Given the description of an element on the screen output the (x, y) to click on. 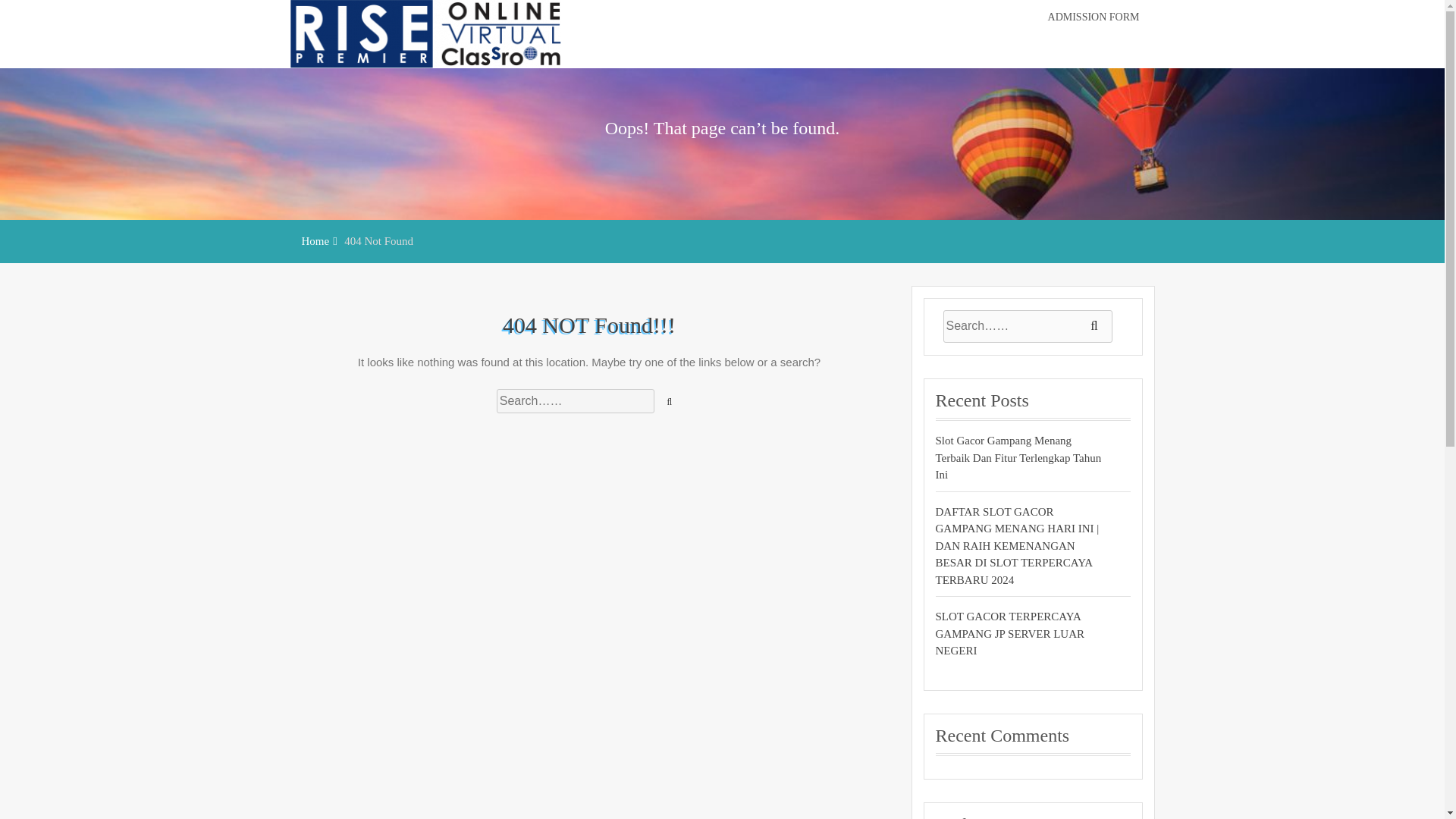
Home (315, 241)
SLOT GACOR TERPERCAYA GAMPANG JP SERVER LUAR NEGERI (1019, 634)
ADMISSION FORM (1093, 17)
